Given the description of an element on the screen output the (x, y) to click on. 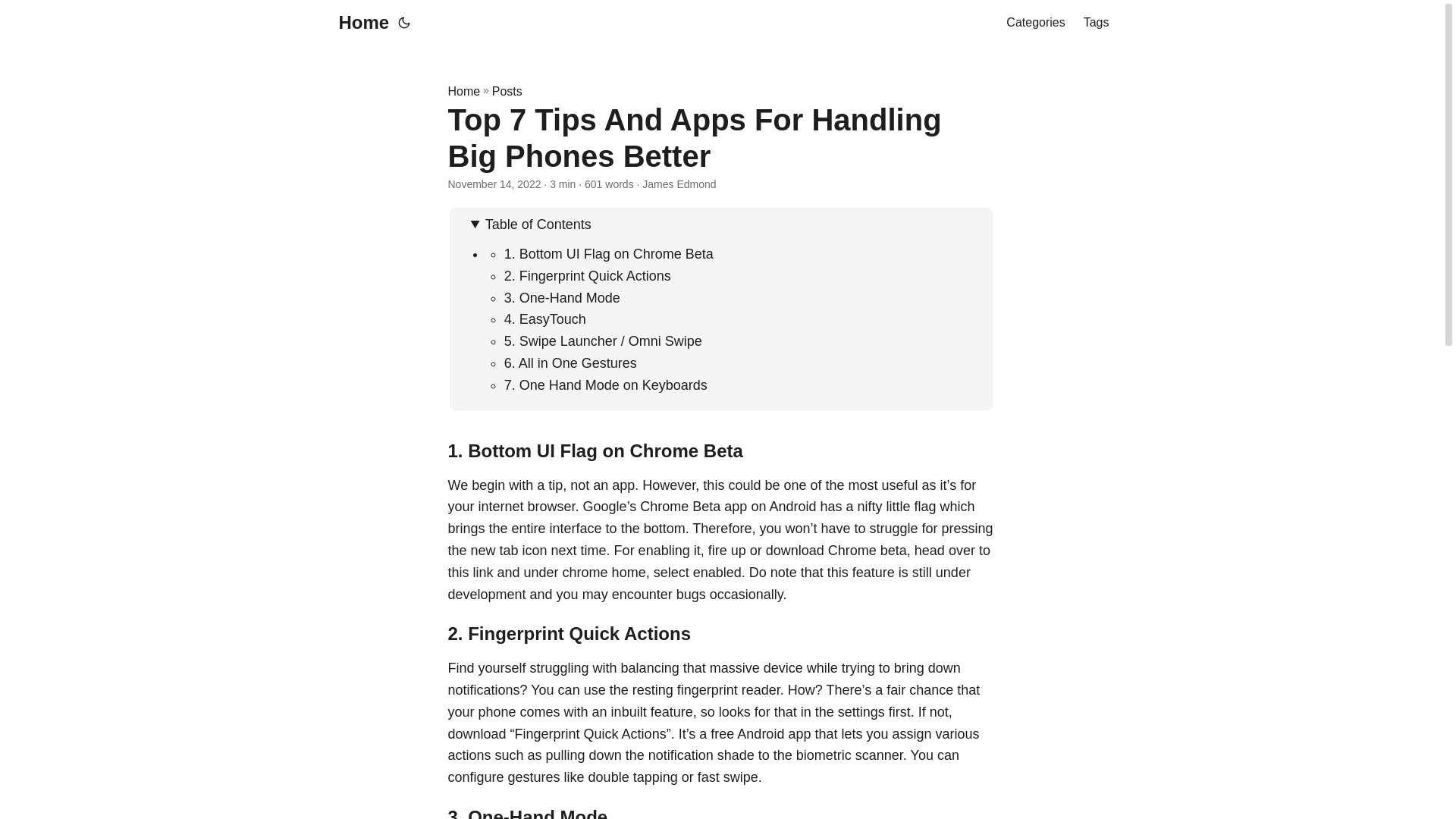
7. One Hand Mode on Keyboards (605, 385)
Categories (1035, 22)
Home (359, 22)
Categories (1035, 22)
Home (463, 91)
1. Bottom UI Flag on Chrome Beta (608, 253)
2. Fingerprint Quick Actions (587, 275)
3. One-Hand Mode (561, 297)
6. All in One Gestures (570, 363)
4. EasyTouch (544, 319)
